Given the description of an element on the screen output the (x, y) to click on. 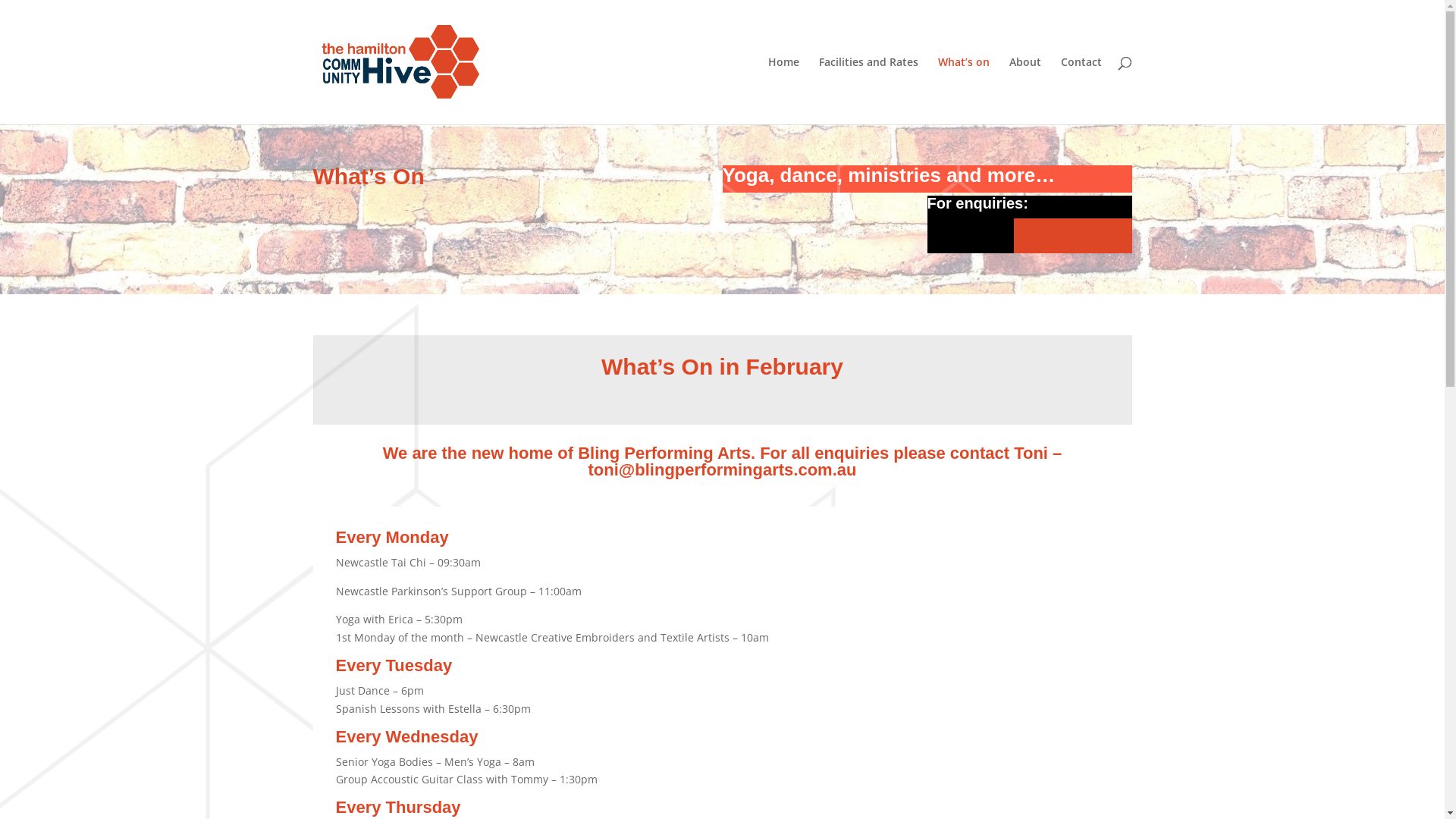
Home Element type: text (782, 90)
Contact Us Element type: text (1072, 235)
Facilities and Rates Element type: text (868, 90)
Contact Element type: text (1080, 90)
About Element type: text (1024, 90)
